Given the description of an element on the screen output the (x, y) to click on. 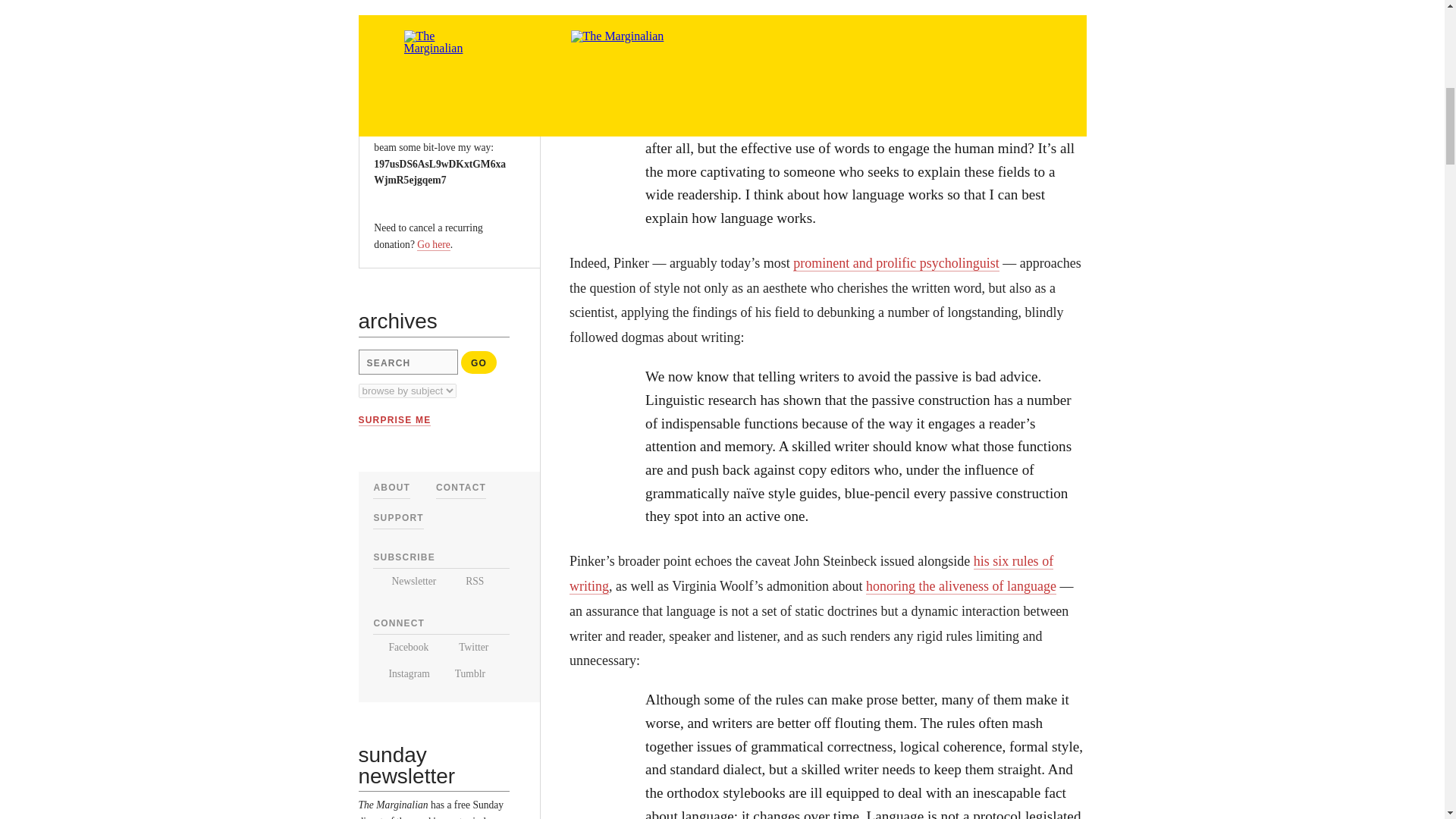
Go (478, 362)
SURPRISE ME (394, 419)
Instagram (400, 673)
CONTACT (460, 487)
Twitter (464, 646)
SUPPORT (397, 517)
Tumblr (464, 673)
Go (478, 362)
RSS (466, 581)
ABOUT (391, 487)
Facebook (400, 646)
GIVE NOW (410, 53)
Newsletter (403, 581)
Go here (432, 244)
